Given the description of an element on the screen output the (x, y) to click on. 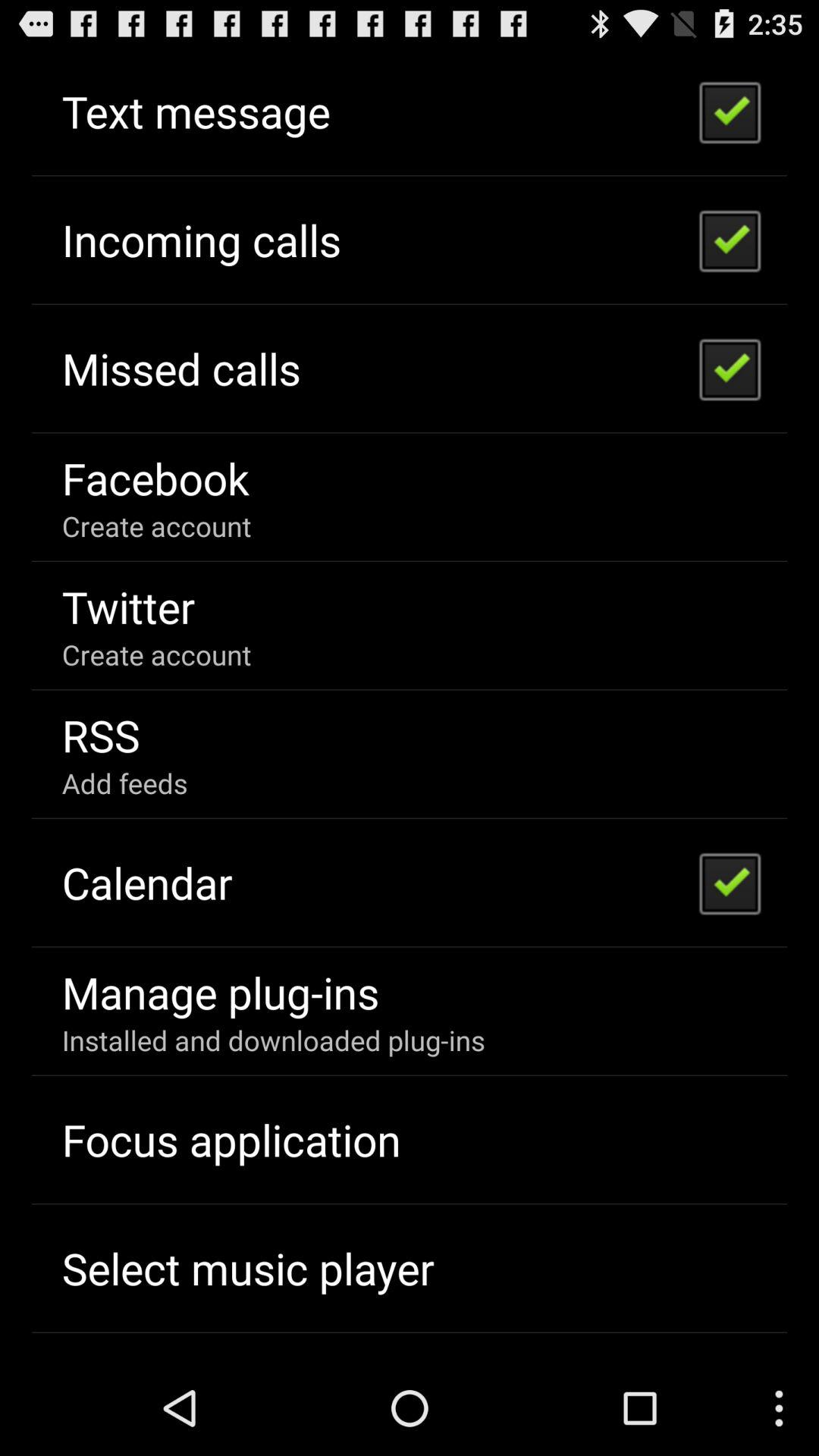
tap the item below the manage plug-ins (273, 1040)
